Given the description of an element on the screen output the (x, y) to click on. 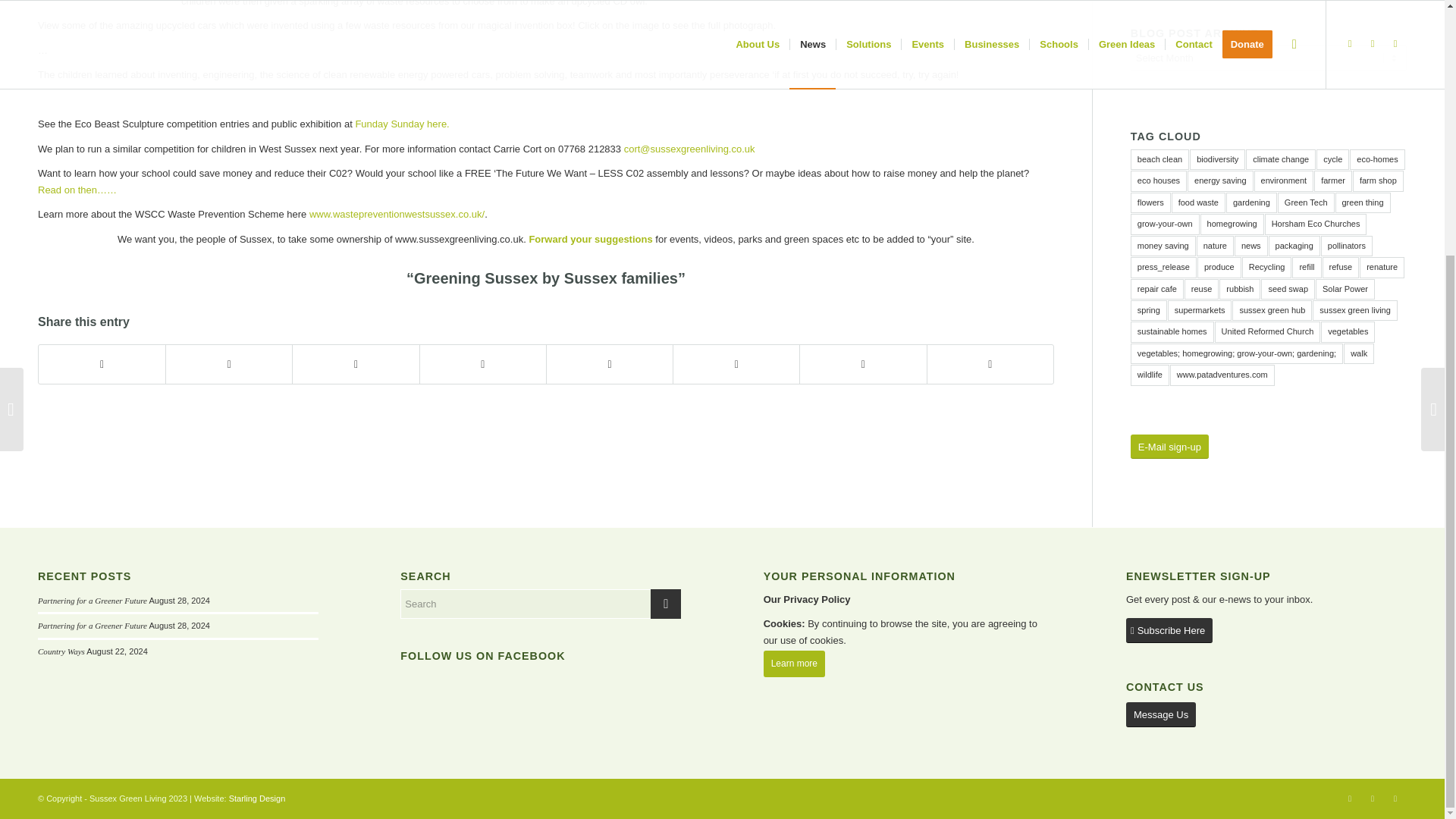
The Future We Want - LESS C02 (76, 189)
Contact Us (590, 238)
Eco Beast Sculptures (401, 123)
WP workshop (105, 3)
